Given the description of an element on the screen output the (x, y) to click on. 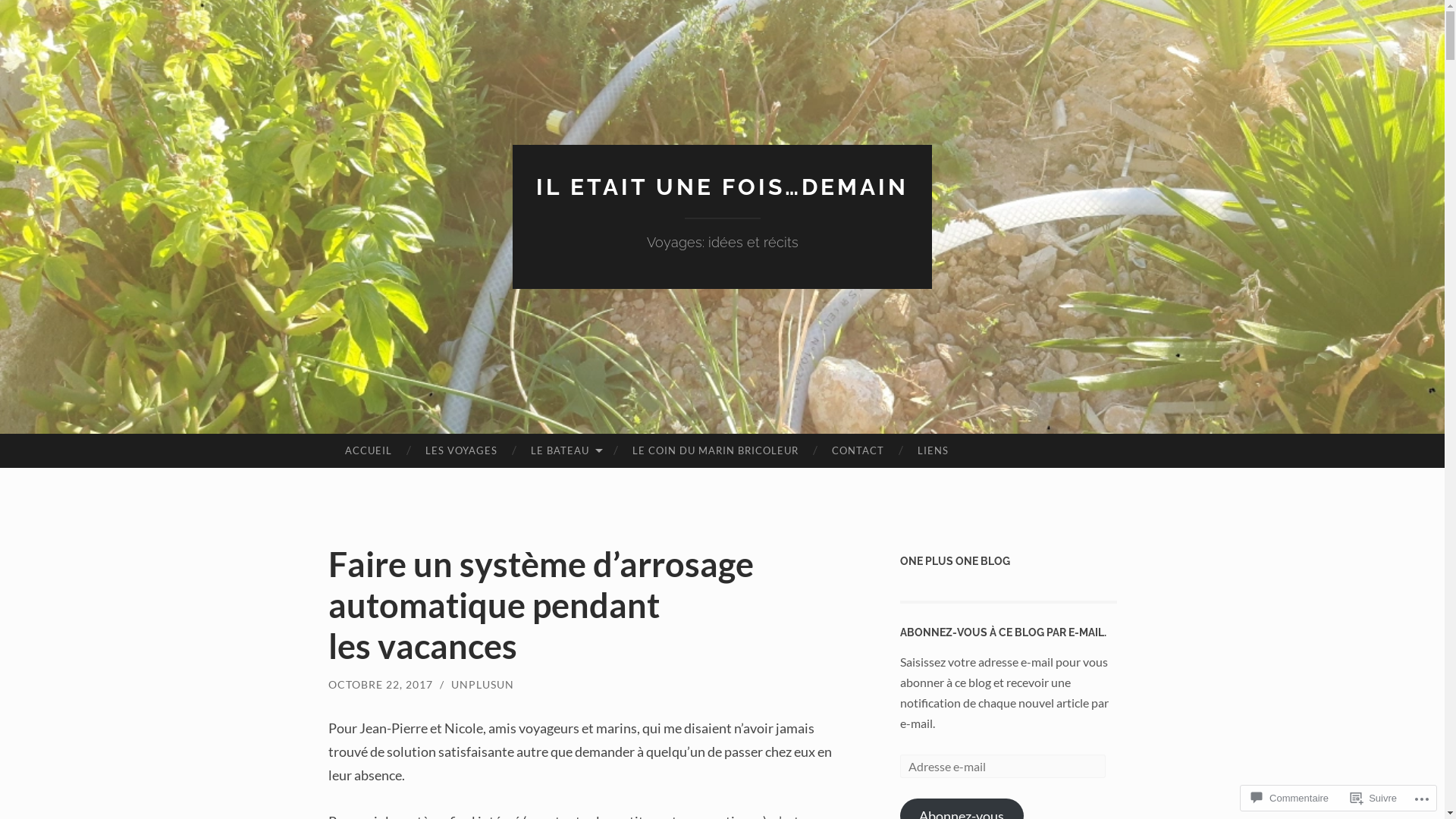
LIENS Element type: text (932, 450)
LE COIN DU MARIN BRICOLEUR Element type: text (715, 450)
OCTOBRE 22, 2017 Element type: text (379, 683)
LES VOYAGES Element type: text (461, 450)
LE BATEAU Element type: text (564, 450)
Suivre Element type: text (1373, 797)
ACCUEIL Element type: text (367, 450)
UNPLUSUN Element type: text (481, 683)
Commentaire Element type: text (1289, 797)
CONTACT Element type: text (857, 450)
